Given the description of an element on the screen output the (x, y) to click on. 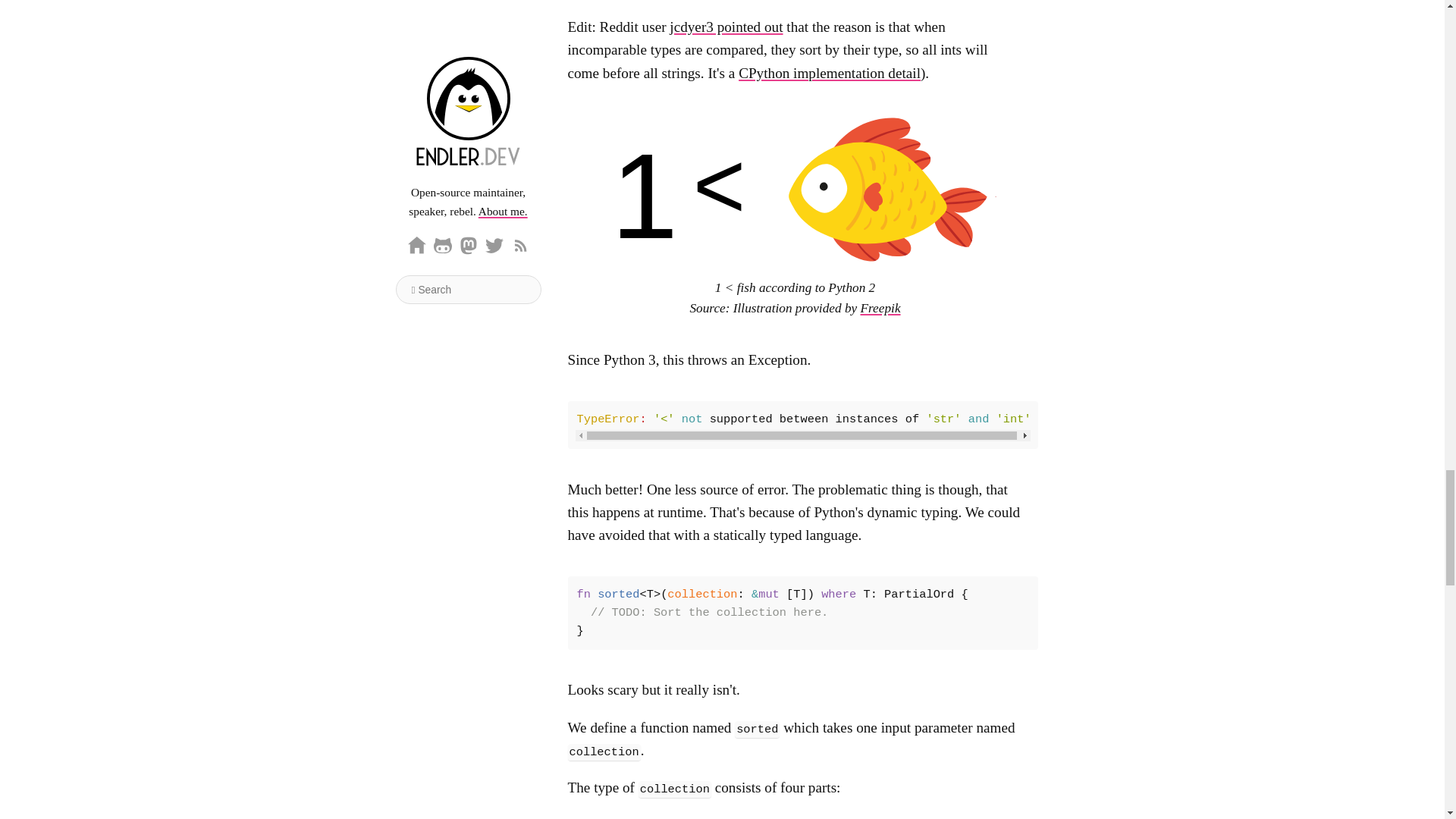
jcdyer3 pointed out (726, 26)
Freepik (879, 308)
CPython implementation detail (829, 73)
